Given the description of an element on the screen output the (x, y) to click on. 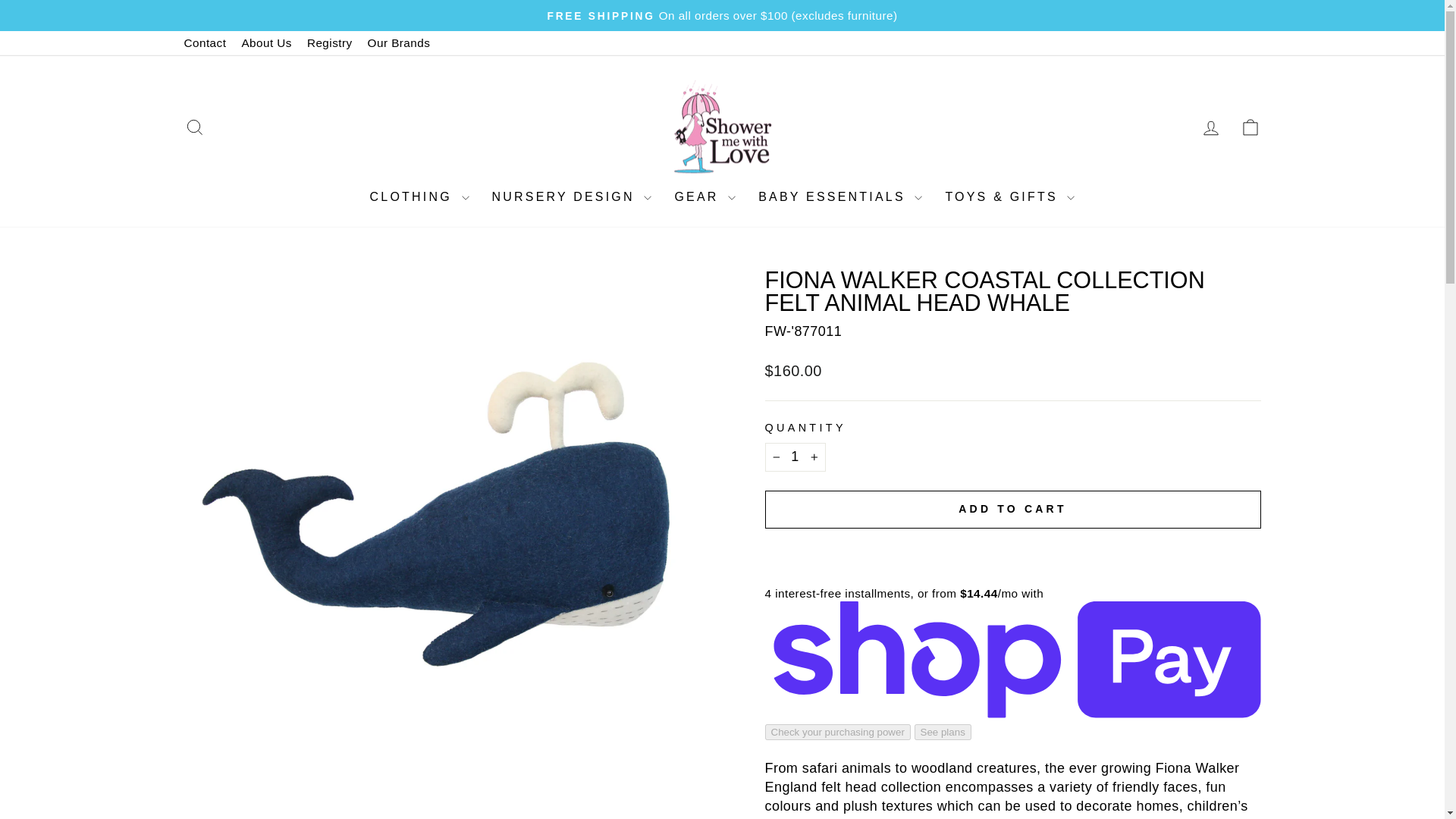
ACCOUNT (1210, 127)
1 (794, 456)
ICON-BAG-MINIMAL (1249, 127)
ICON-SEARCH (194, 127)
